Given the description of an element on the screen output the (x, y) to click on. 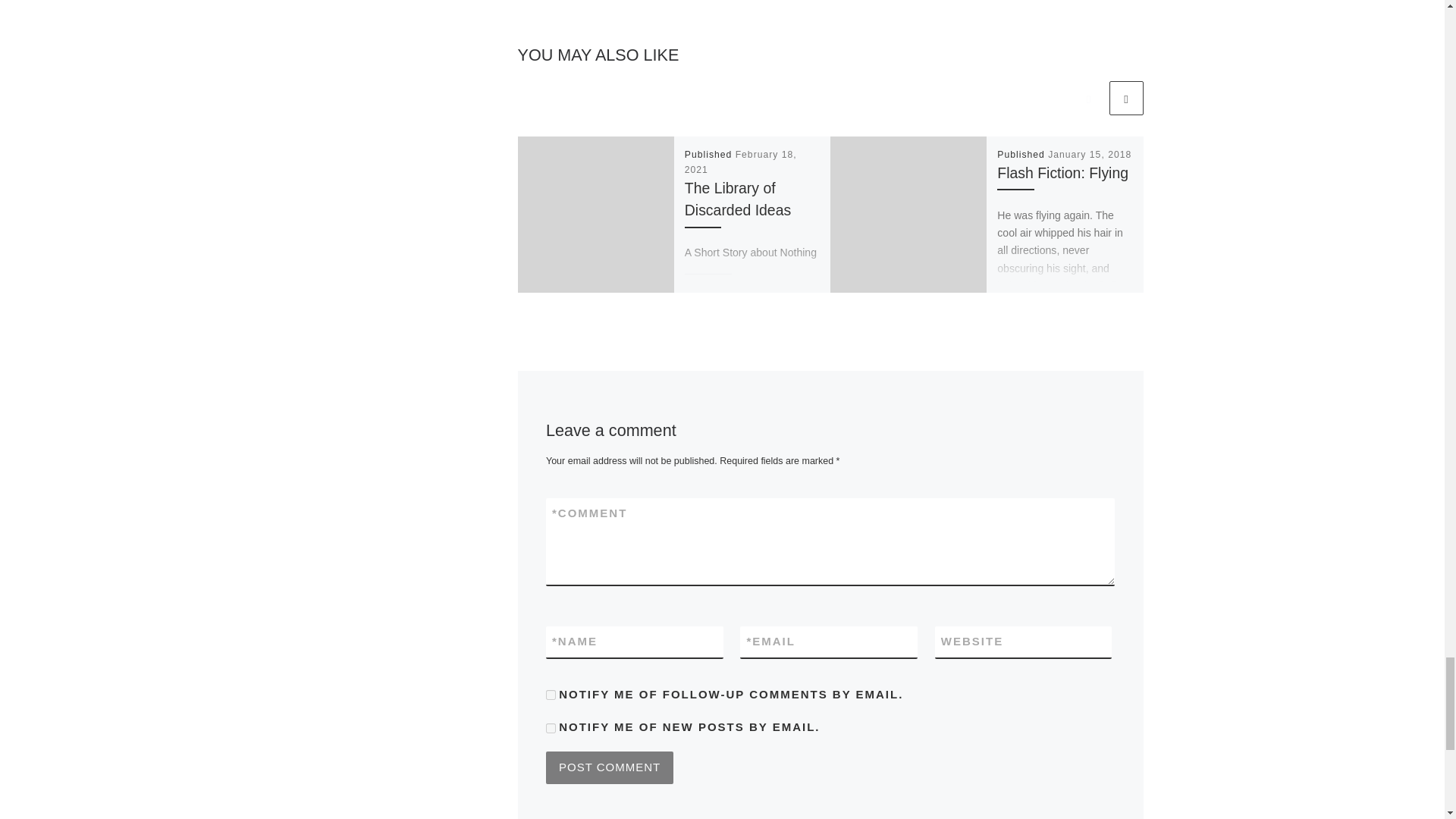
Next related articles (1125, 98)
Post Comment (609, 767)
subscribe (551, 695)
subscribe (551, 728)
Previous related articles (1088, 98)
